Given the description of an element on the screen output the (x, y) to click on. 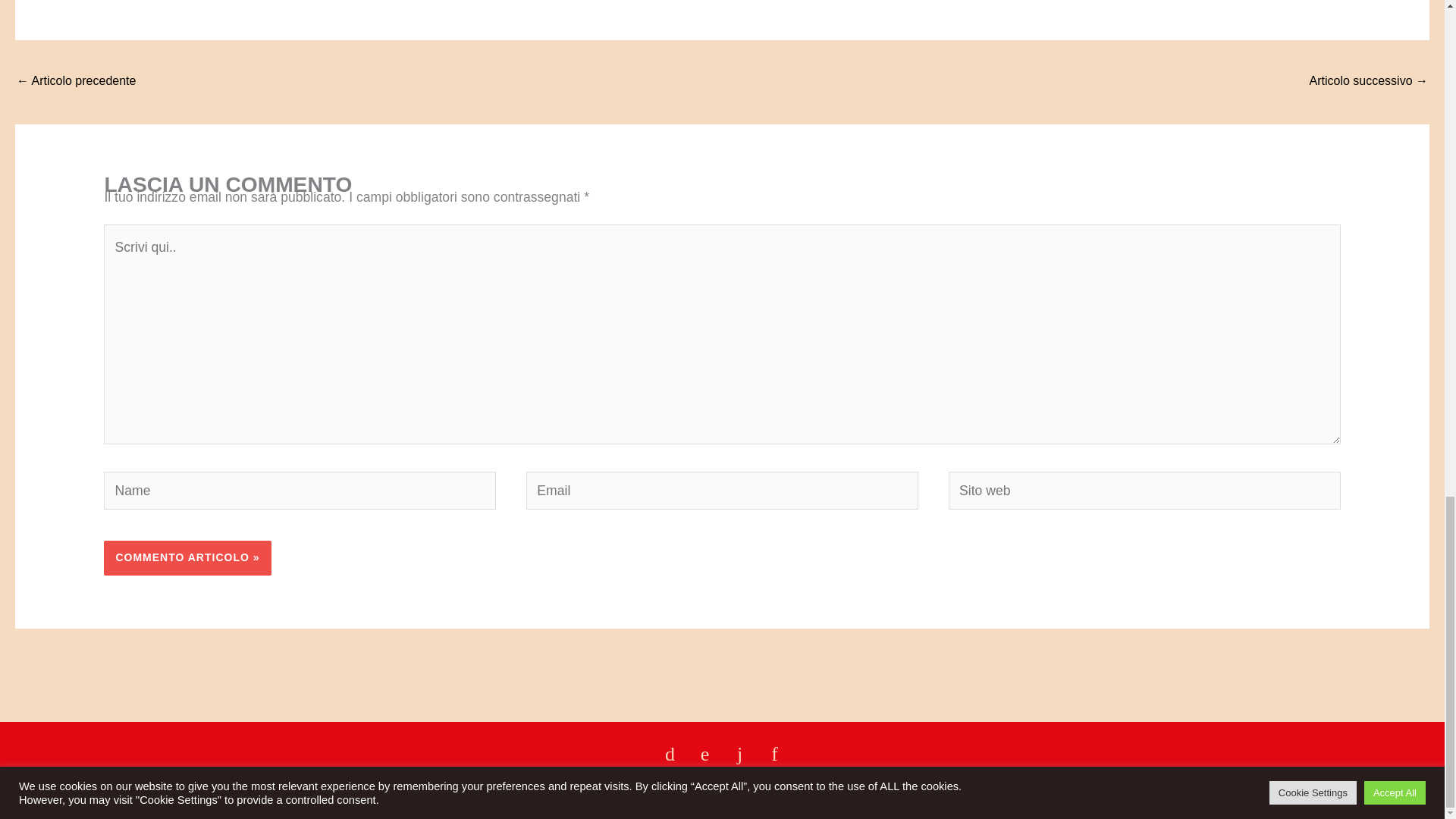
Contattaci (46, 788)
Informativa sulla privacy (1364, 788)
